Given the description of an element on the screen output the (x, y) to click on. 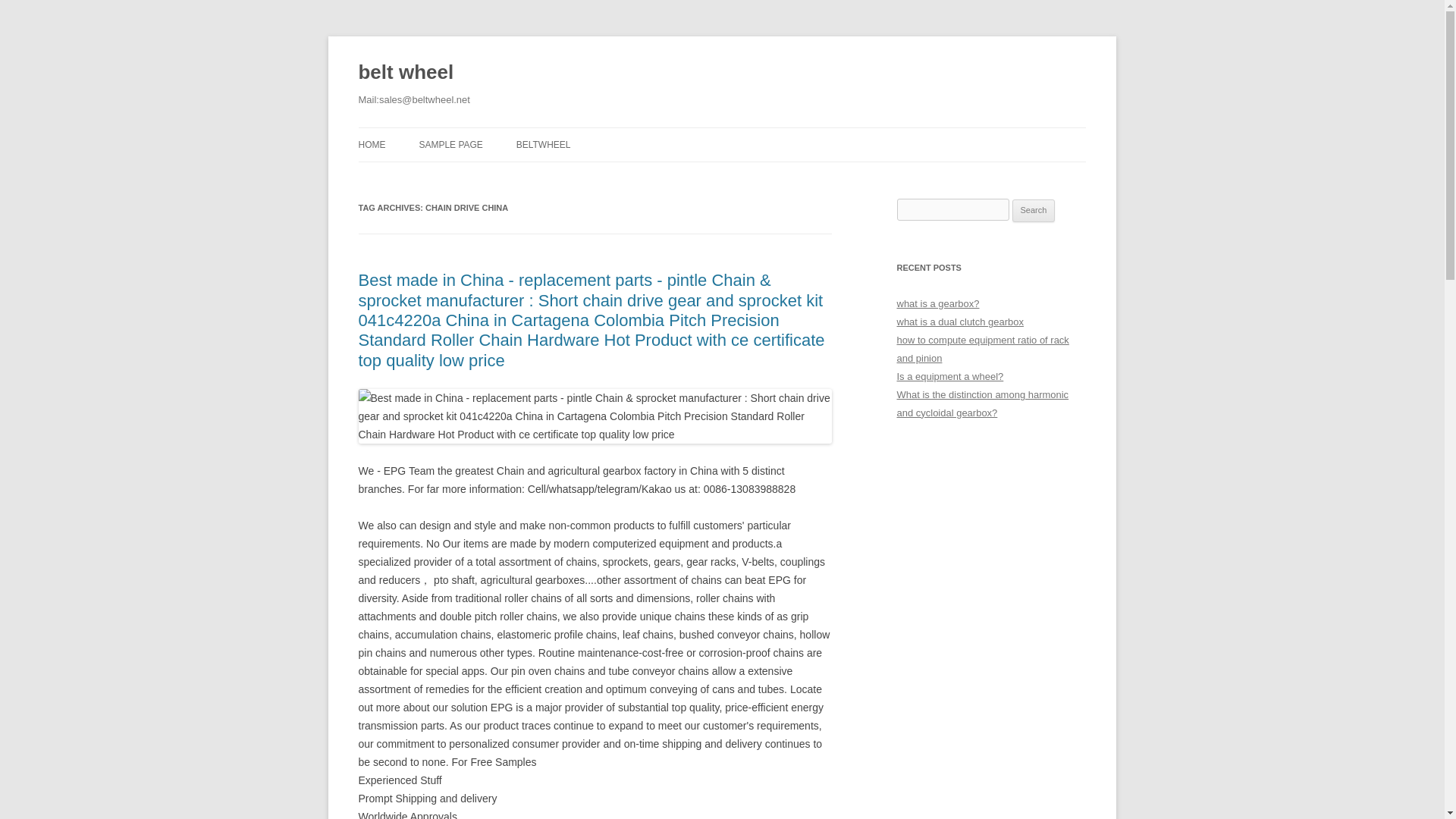
HOME (371, 144)
belt wheel (405, 72)
belt wheel (405, 72)
BELTWHEEL (543, 144)
Search (1033, 210)
SAMPLE PAGE (450, 144)
